Given the description of an element on the screen output the (x, y) to click on. 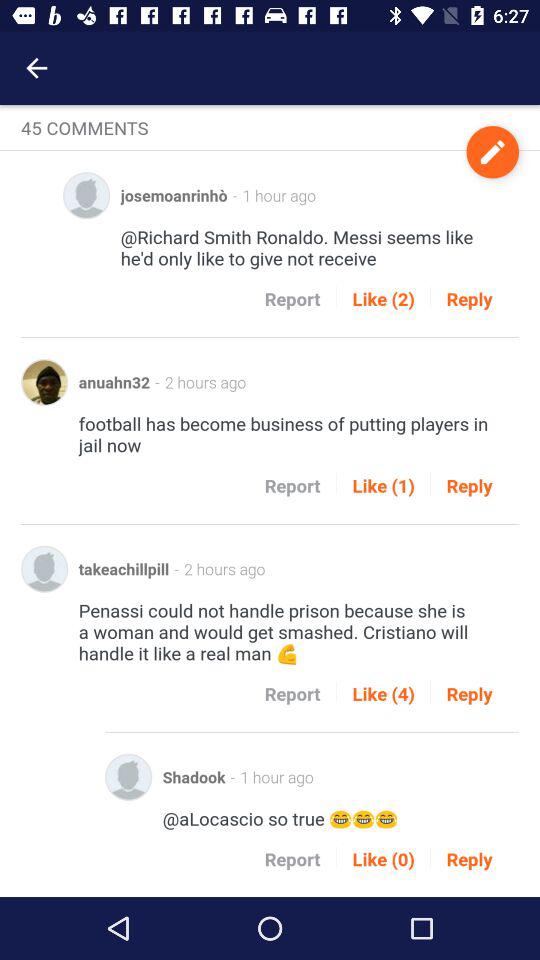
press item below the football has become item (383, 485)
